Given the description of an element on the screen output the (x, y) to click on. 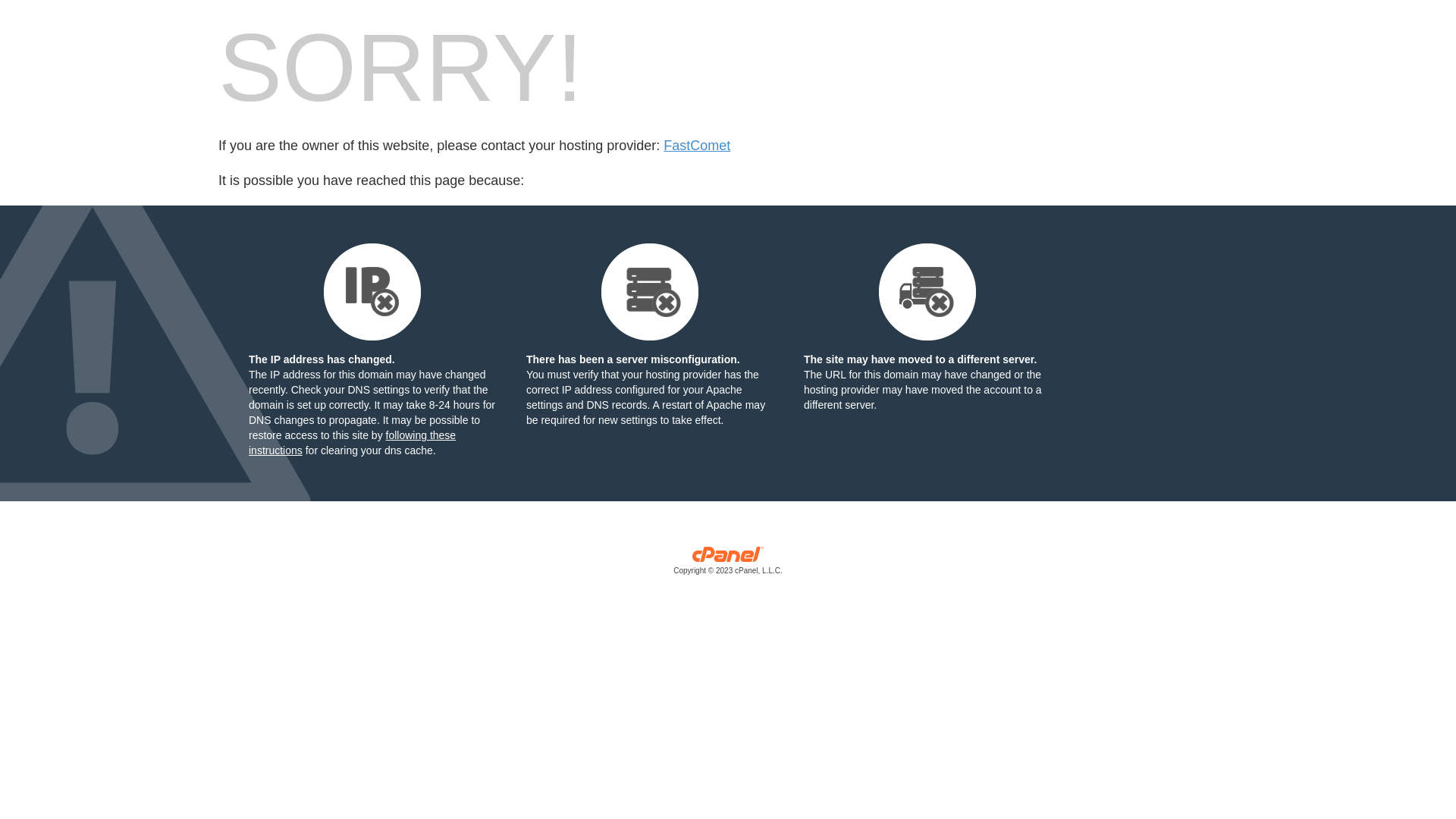
FastComet Element type: text (696, 145)
following these instructions Element type: text (351, 442)
